Given the description of an element on the screen output the (x, y) to click on. 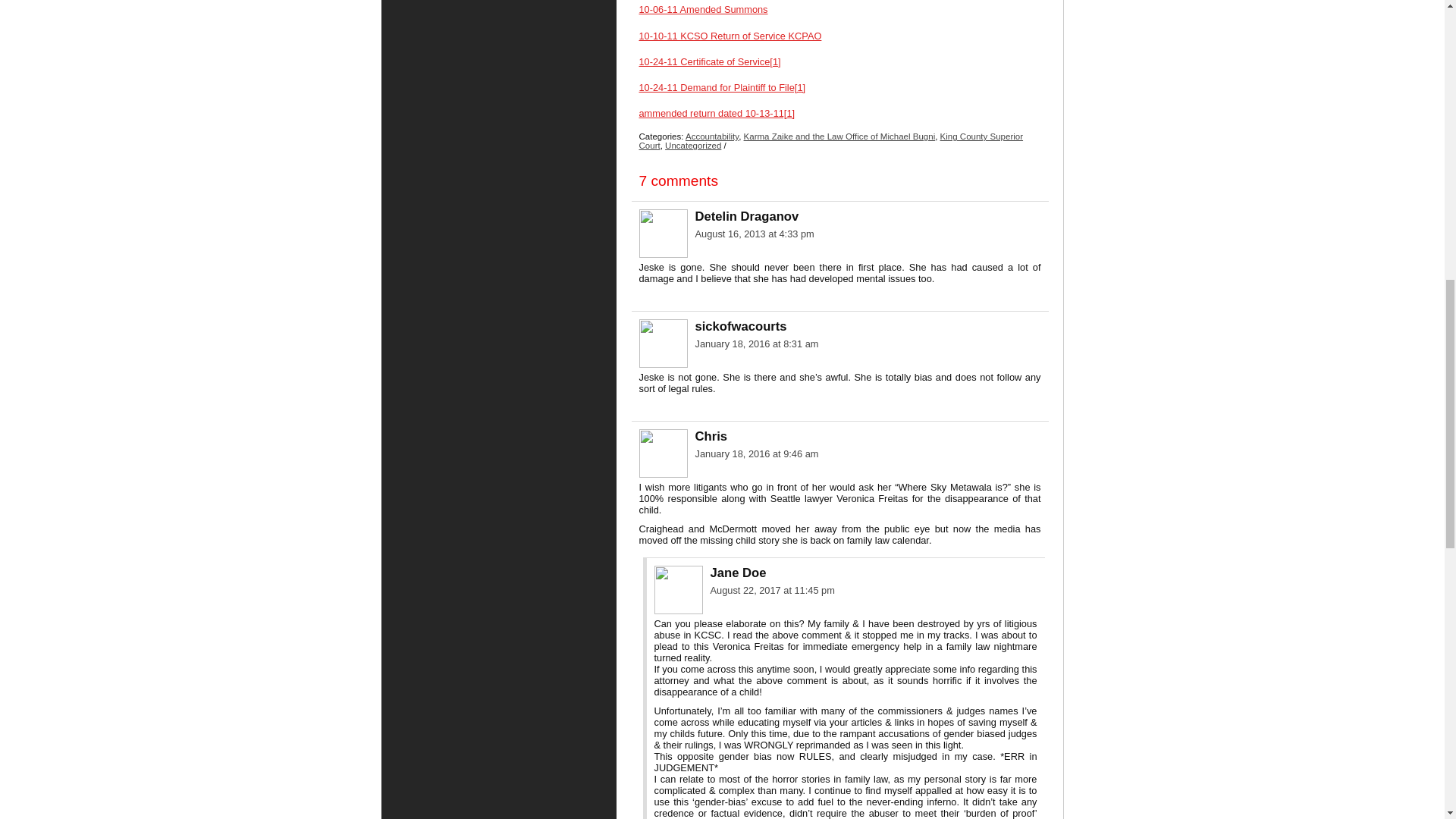
10-06-11 Amended Summons (703, 9)
Accountability (711, 135)
10-10-11 KCSO Return of Service KCPAO (730, 35)
King County Superior Court (831, 140)
January 18, 2016 at 9:46 am (756, 453)
August 16, 2013 at 4:33 pm (753, 233)
Uncategorized (692, 144)
August 22, 2017 at 11:45 pm (772, 590)
January 18, 2016 at 8:31 am (756, 343)
Karma Zaike and the Law Office of Michael Bugni (840, 135)
